Given the description of an element on the screen output the (x, y) to click on. 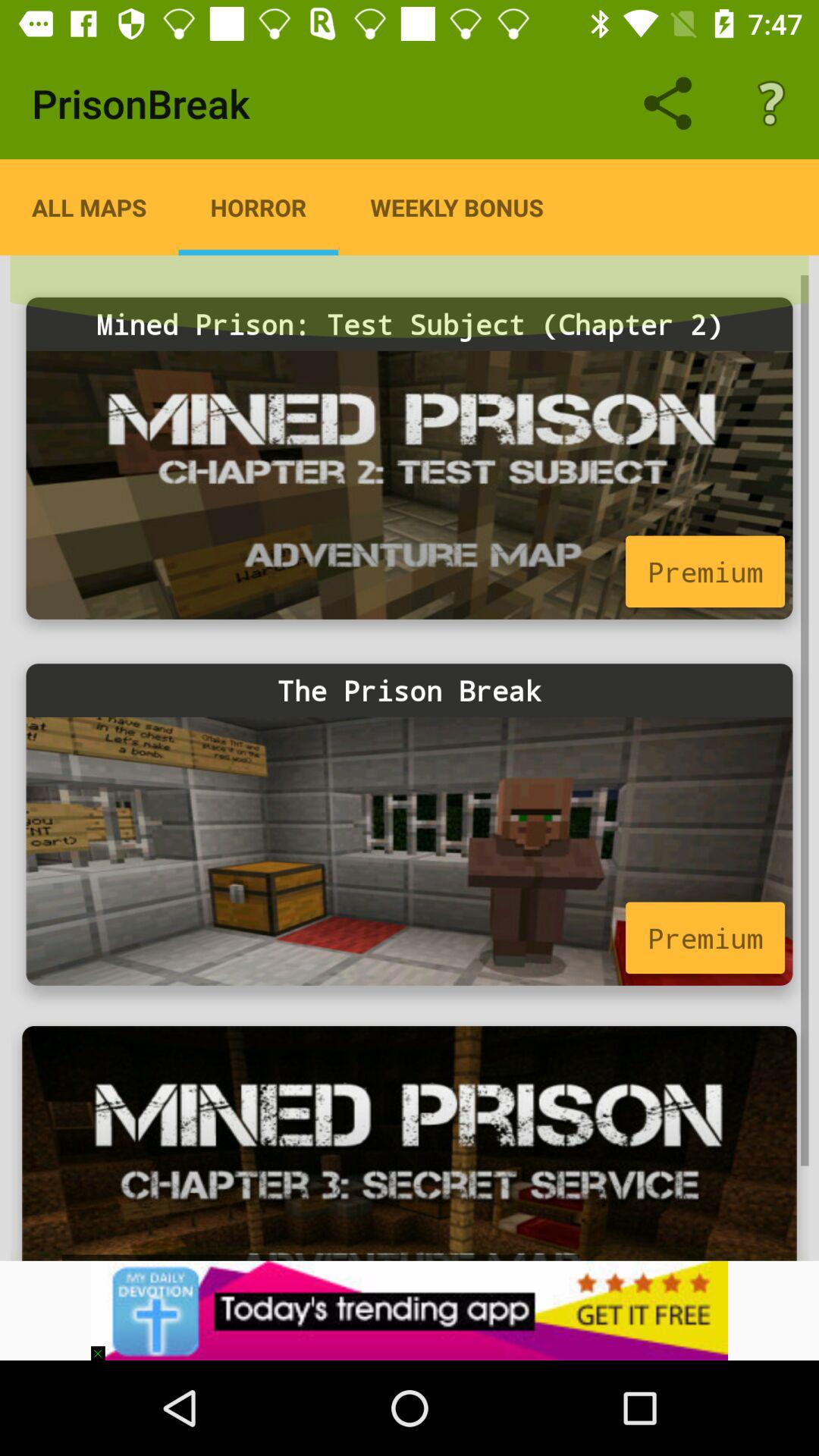
click on horror (258, 207)
